Given the description of an element on the screen output the (x, y) to click on. 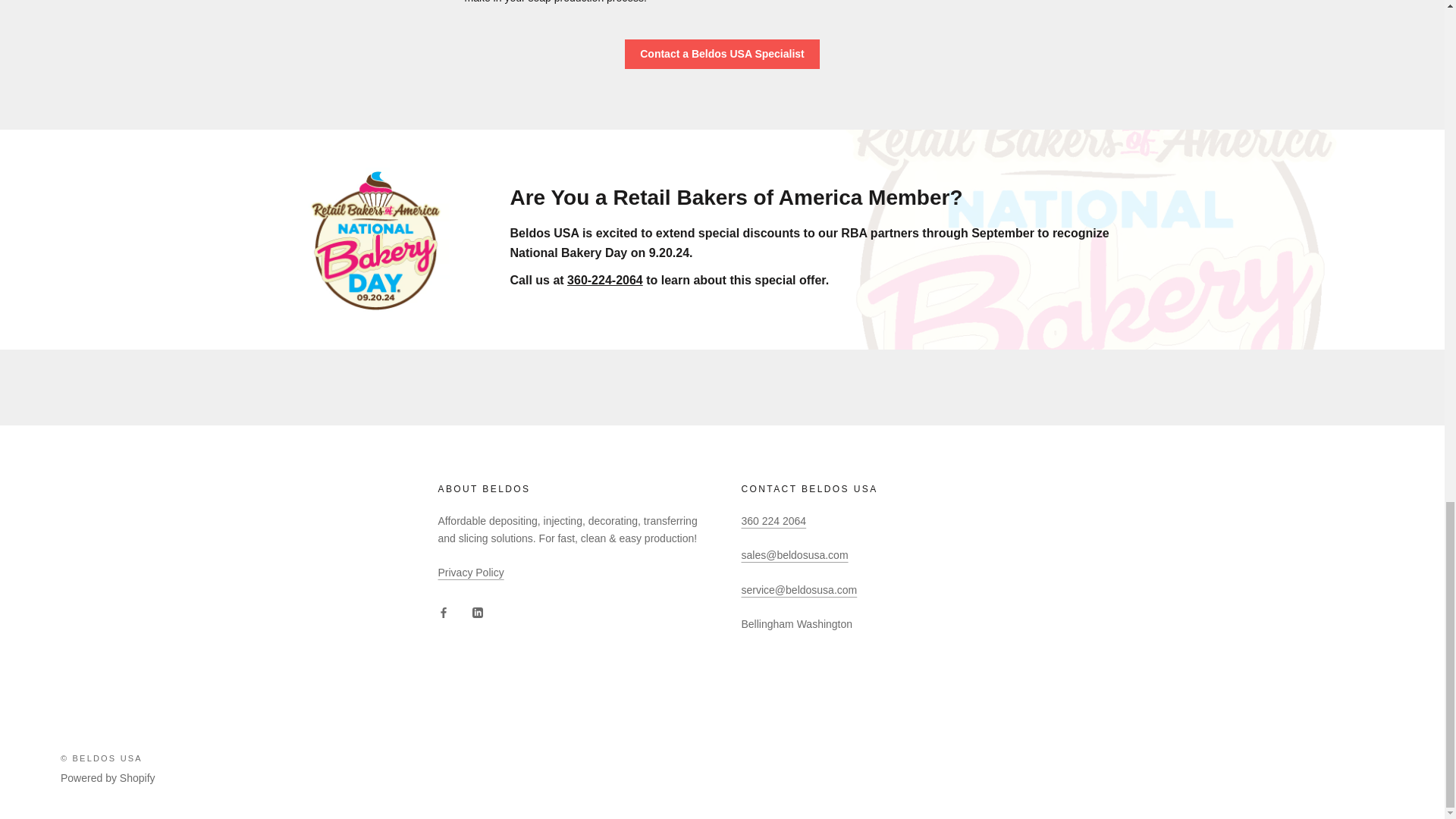
tel:360 224 2064 (773, 521)
